Given the description of an element on the screen output the (x, y) to click on. 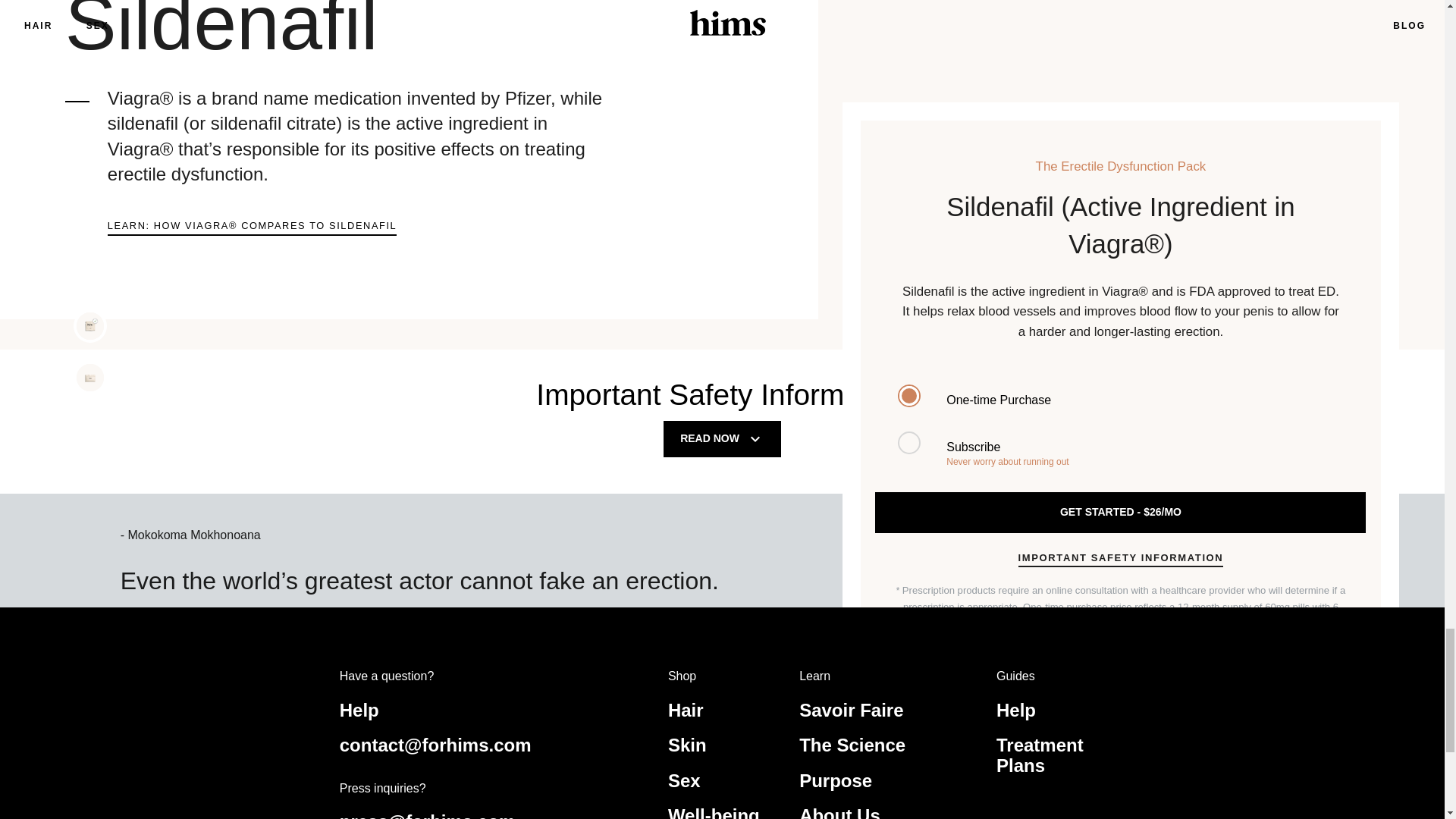
Help (358, 710)
READ NOW (721, 438)
Treatment Plans (1039, 754)
Purpose (835, 780)
Sex (684, 780)
The Science (852, 744)
Skin (687, 744)
Savoir Faire (850, 710)
Well-being (714, 812)
Help (1015, 710)
Hair (685, 710)
About Us (839, 812)
